Given the description of an element on the screen output the (x, y) to click on. 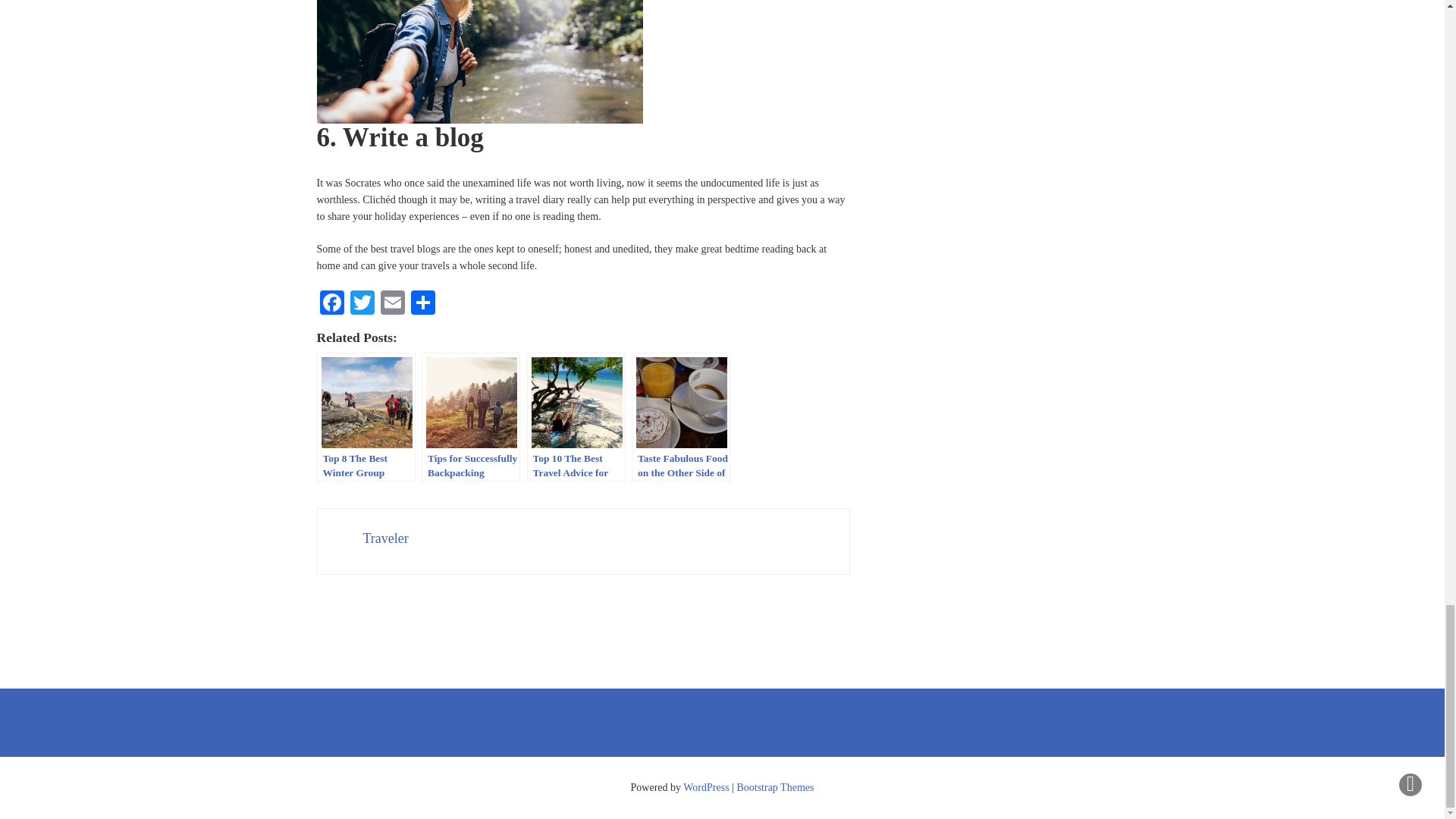
Email (392, 304)
Tips for Successfully Backpacking Excursions with Kids (470, 416)
Top 10 The Best Travel Advice for the Backpackers (574, 416)
Top 8 The Best Winter Group Walks In the UK (365, 416)
Facebook (332, 304)
Twitter (362, 304)
